Given the description of an element on the screen output the (x, y) to click on. 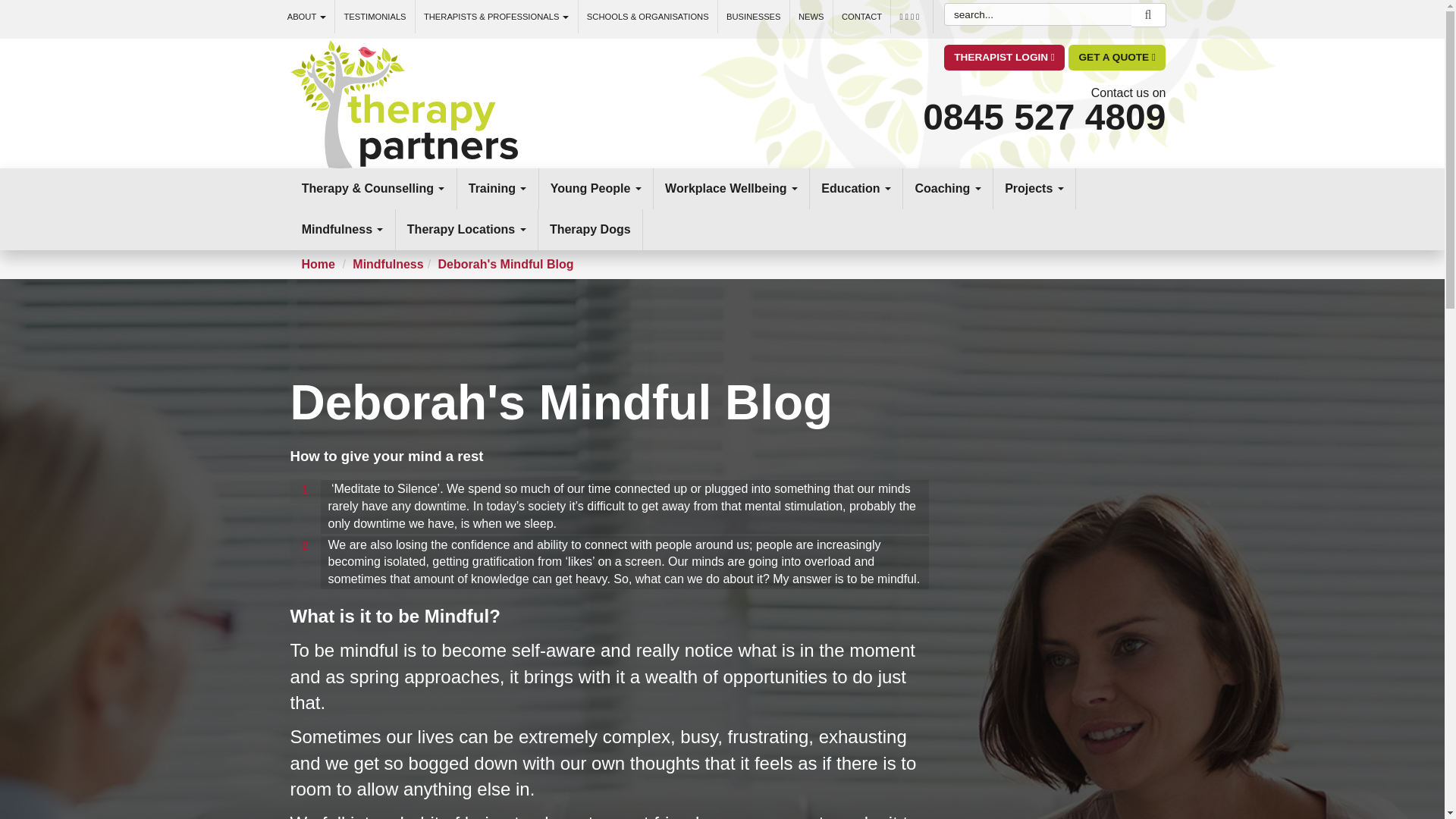
GET A QUOTE (1117, 57)
BUSINESSES (753, 16)
0845 527 4809 (1044, 117)
TESTIMONIALS (374, 16)
Training (497, 188)
THERAPIST LOGIN (1004, 57)
NEWS (810, 16)
CONTACT (861, 16)
ABOUT (306, 16)
